Given the description of an element on the screen output the (x, y) to click on. 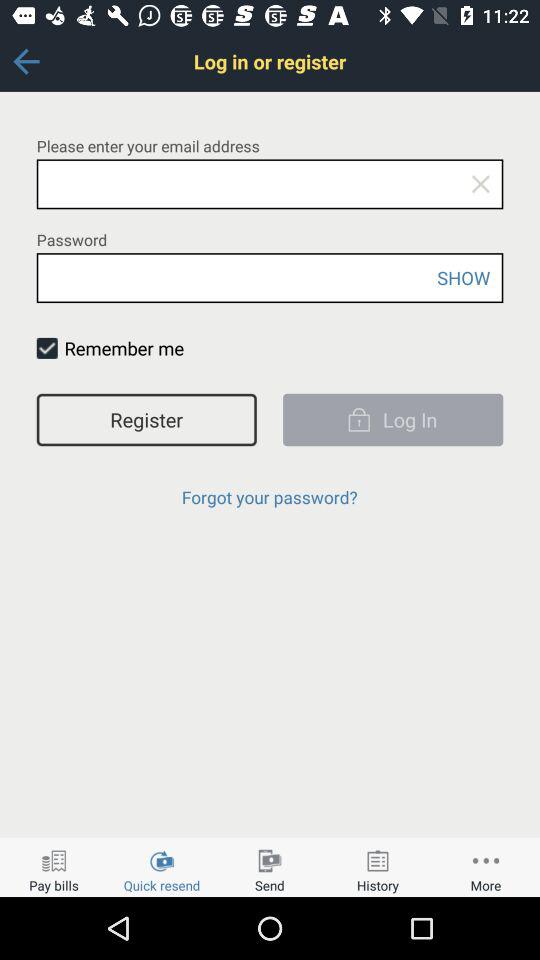
place to enter email (269, 184)
